Given the description of an element on the screen output the (x, y) to click on. 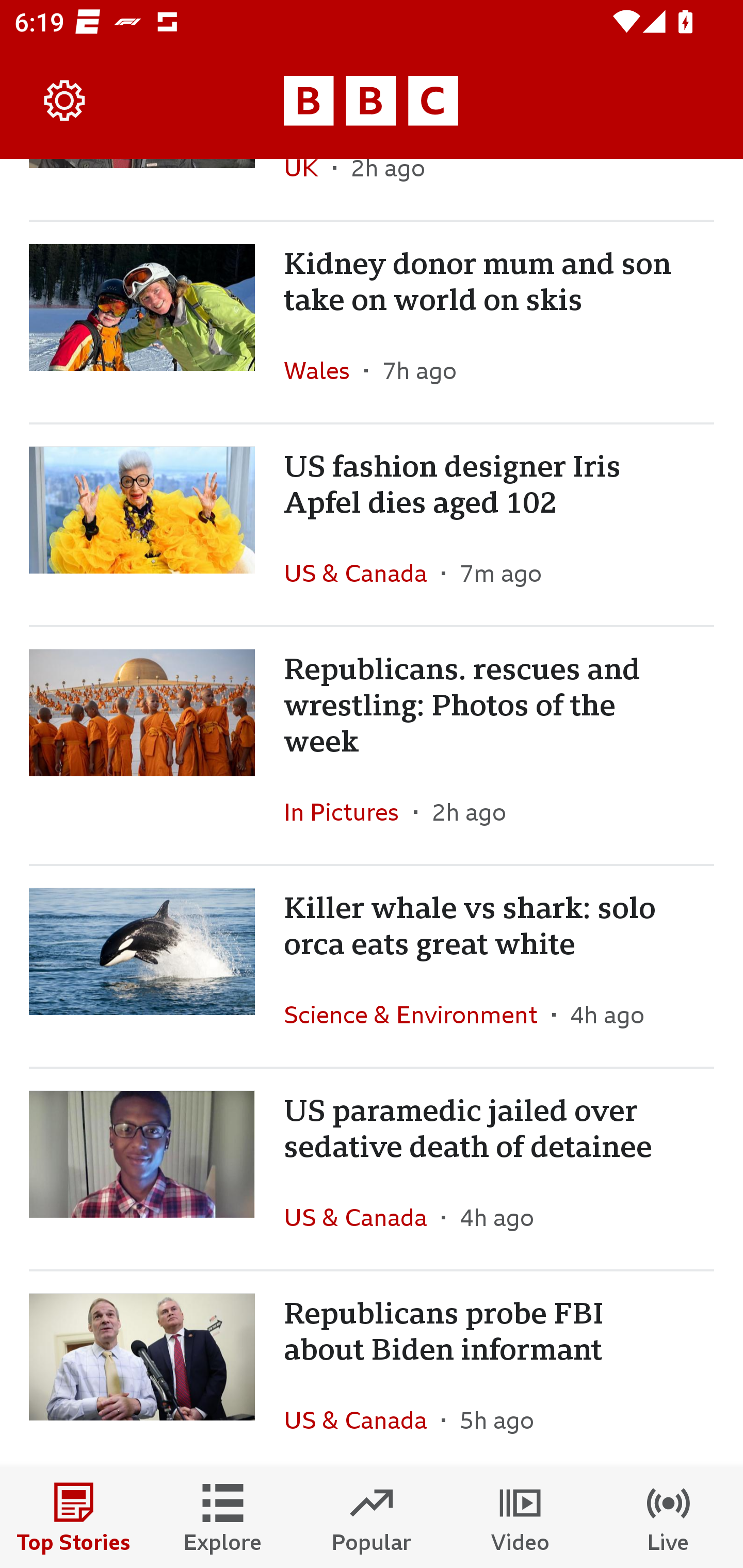
Settings (64, 100)
Wales In the section Wales (323, 369)
US & Canada In the section US & Canada (362, 572)
In Pictures In the section In Pictures (348, 811)
US & Canada In the section US & Canada (362, 1217)
US & Canada In the section US & Canada (362, 1417)
Explore (222, 1517)
Popular (371, 1517)
Video (519, 1517)
Live (668, 1517)
